Given the description of an element on the screen output the (x, y) to click on. 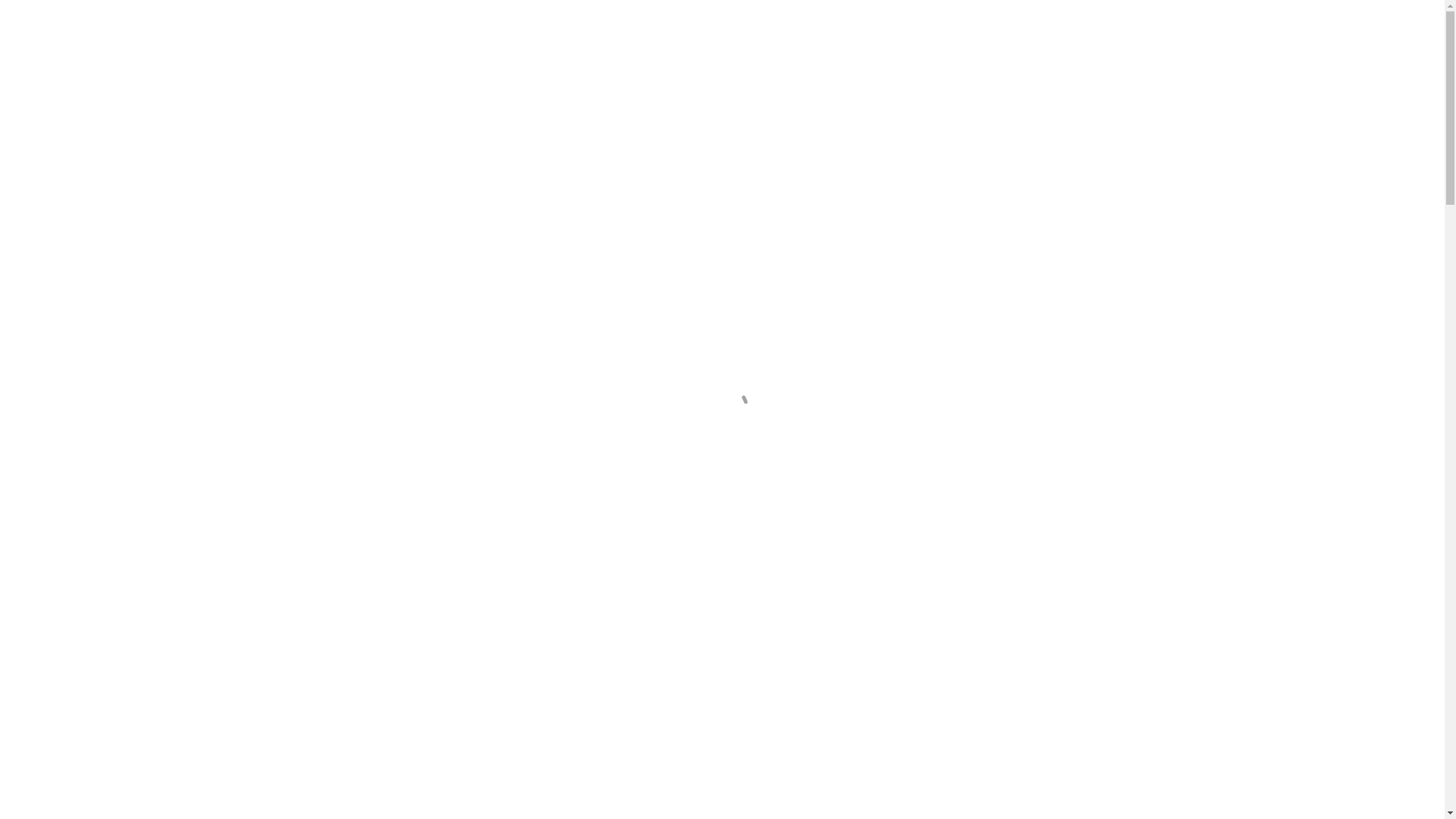
BYDC Element type: text (329, 22)
BARCO 4451 Element type: text (566, 723)
32 Element type: text (1097, 143)
0 Element type: text (1125, 22)
KOI 710 Element type: text (731, 415)
KOI 710 Element type: text (897, 415)
16 Element type: text (1078, 143)
64 Element type: text (1117, 143)
KOI 710 Element type: text (566, 415)
+375 29 902-23-17 Element type: text (420, 25)
100 Element type: text (1140, 143)
KOI 601 Element type: text (1062, 415)
